Given the description of an element on the screen output the (x, y) to click on. 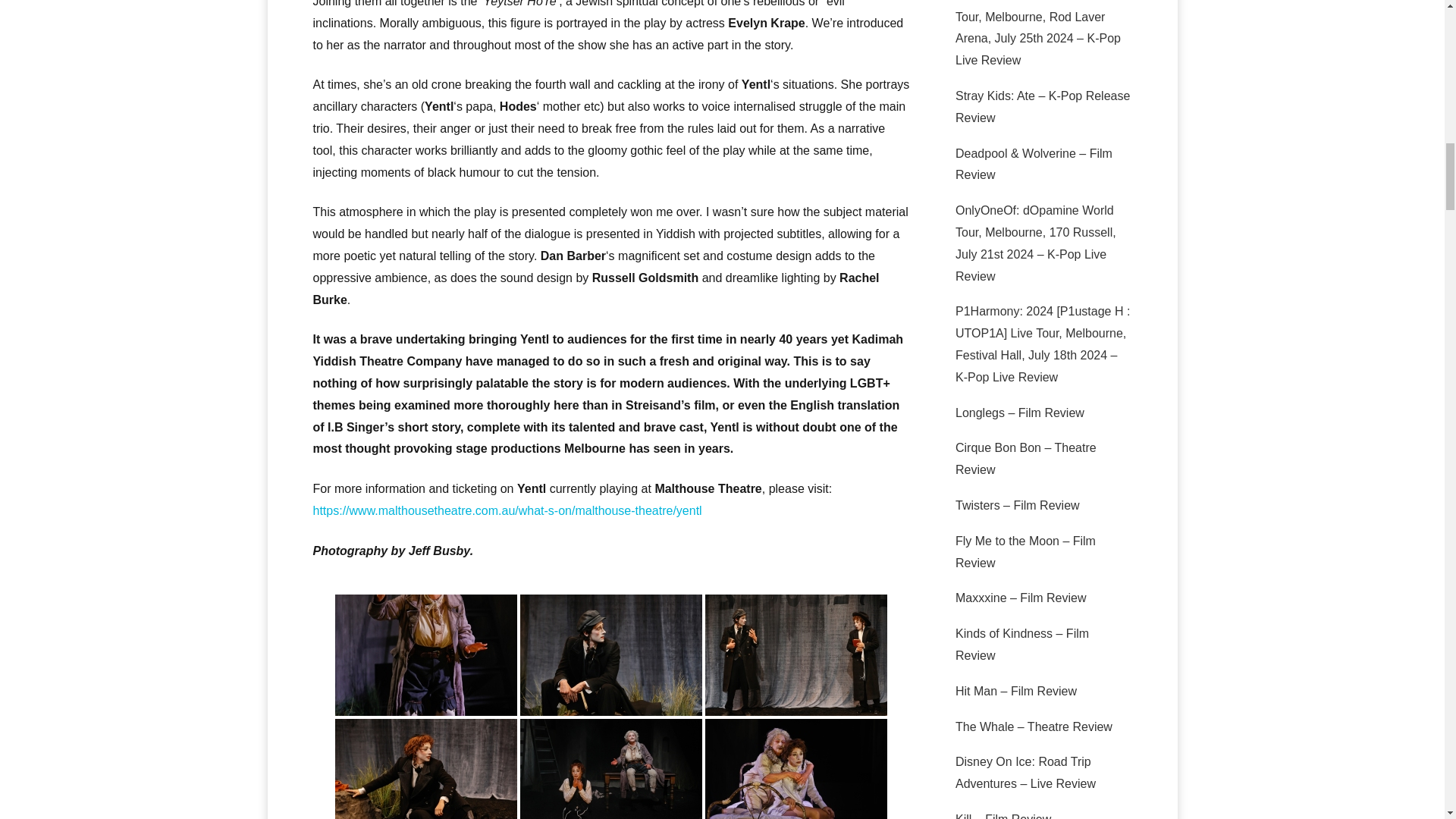
Photography By Jeff Busby (425, 654)
Photography By Jeff Busby (610, 769)
Photography By Jeff Busby (795, 769)
Photography By Jeff Busby (610, 654)
Photography By Jeff Busby (425, 769)
Photography By Jeff Busby (795, 654)
